Given the description of an element on the screen output the (x, y) to click on. 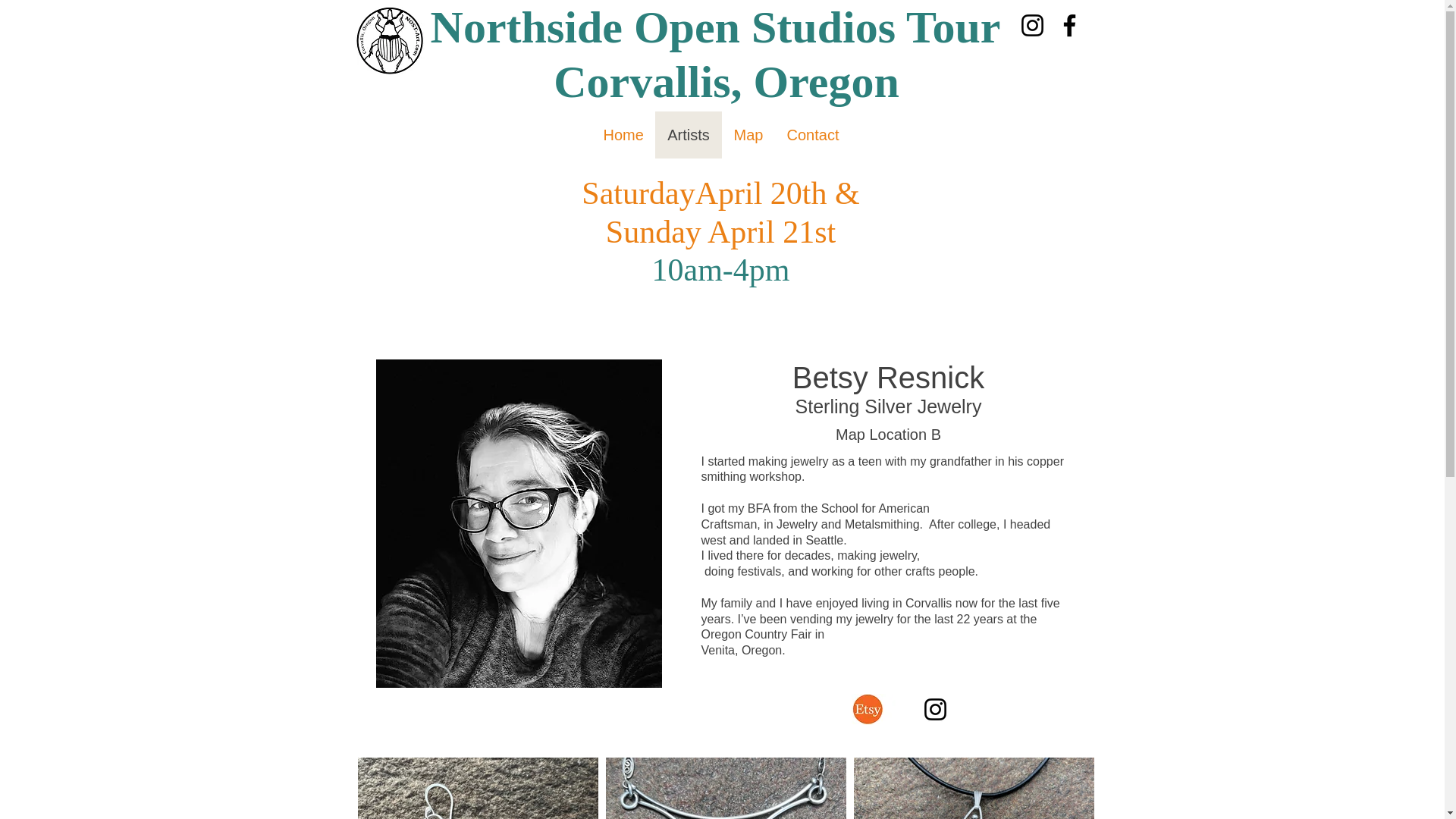
pen Studios Tour  (840, 27)
Nosttitle.jpeg (390, 40)
 Corvallis, Oregon (720, 81)
Artists (688, 134)
Home (623, 134)
Northside O (549, 27)
